Given the description of an element on the screen output the (x, y) to click on. 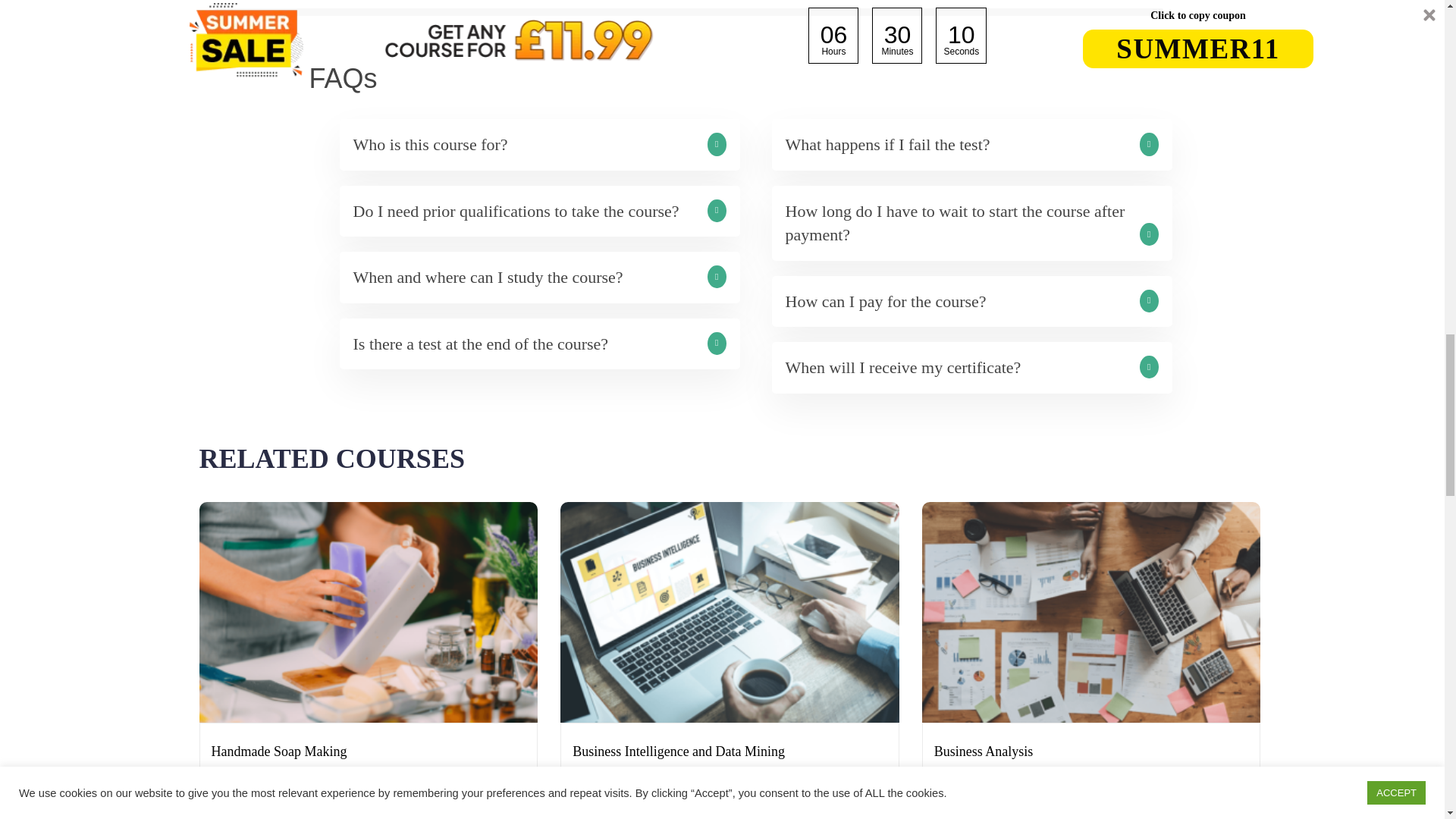
Business Intelligence and Data Mining (678, 751)
Handmade Soap Making (278, 751)
Business Analysis (983, 751)
